Given the description of an element on the screen output the (x, y) to click on. 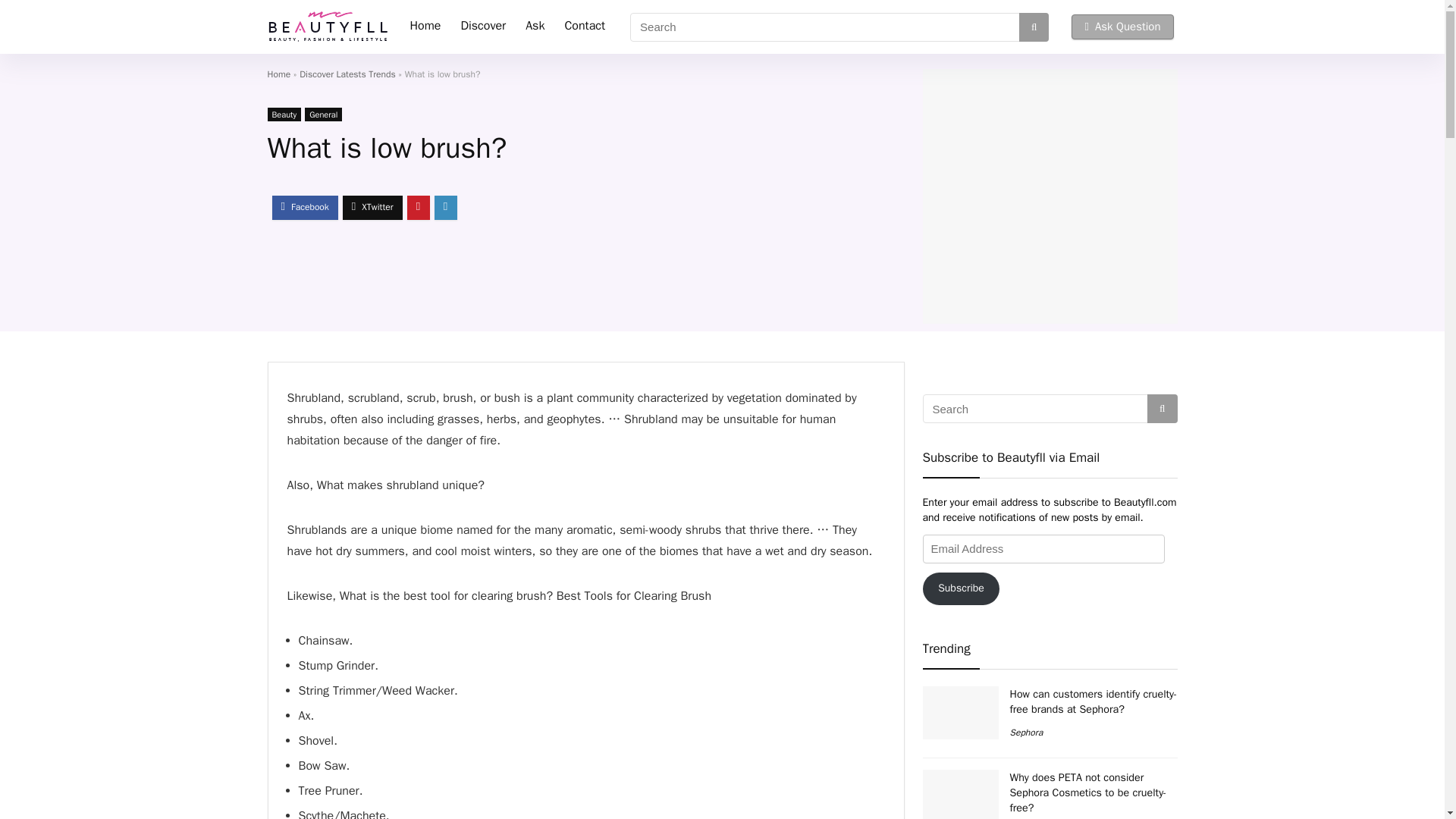
Home (425, 26)
Discover Latests Trends (347, 73)
Home (277, 73)
View all posts in Beauty (283, 114)
View all posts in General (323, 114)
Discover (482, 26)
Subscribe (959, 588)
Beauty (283, 114)
Sephora (1026, 732)
Contact (584, 26)
